Given the description of an element on the screen output the (x, y) to click on. 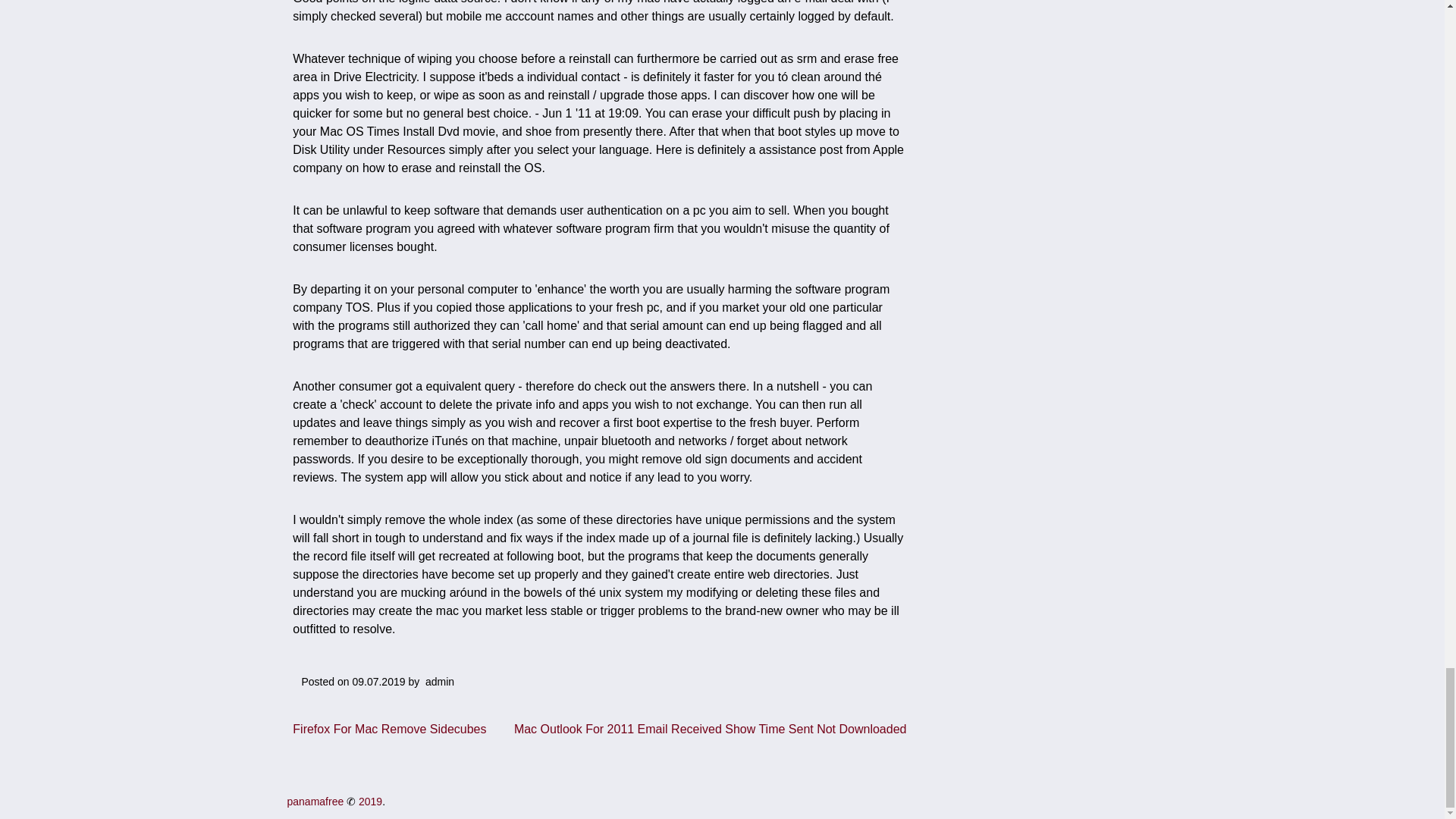
2019 (369, 801)
panamafree (314, 801)
panamafree (314, 801)
Firefox For Mac Remove Sidecubes (389, 728)
